Given the description of an element on the screen output the (x, y) to click on. 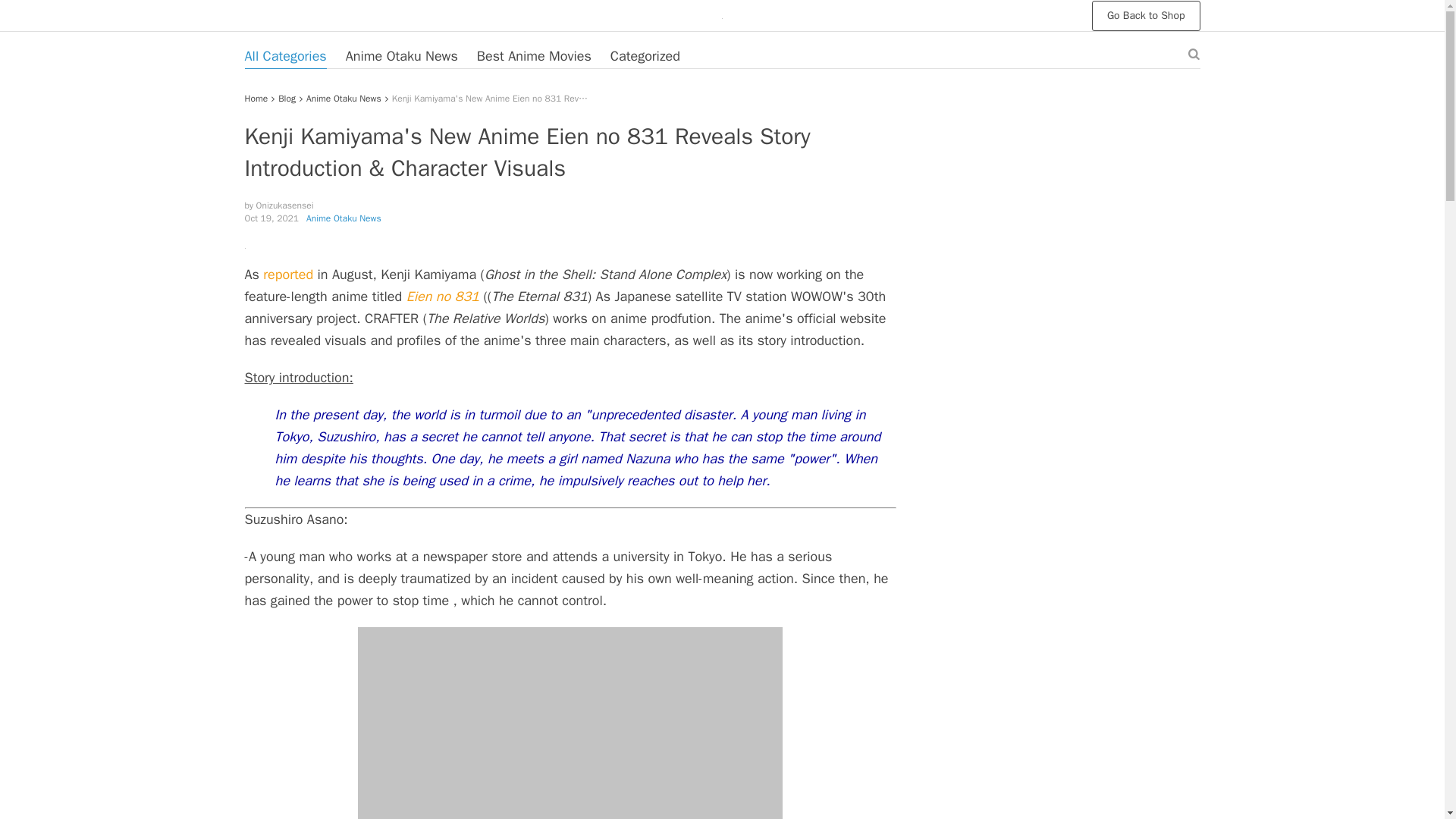
Go Back to Shop (1145, 15)
Categorized (644, 55)
Home (255, 98)
Blog (286, 98)
Anime Otaku News (343, 218)
Best Anime Movies (534, 55)
Anime Otaku News (402, 55)
Anime Otaku News (343, 98)
All Categories (285, 55)
